Given the description of an element on the screen output the (x, y) to click on. 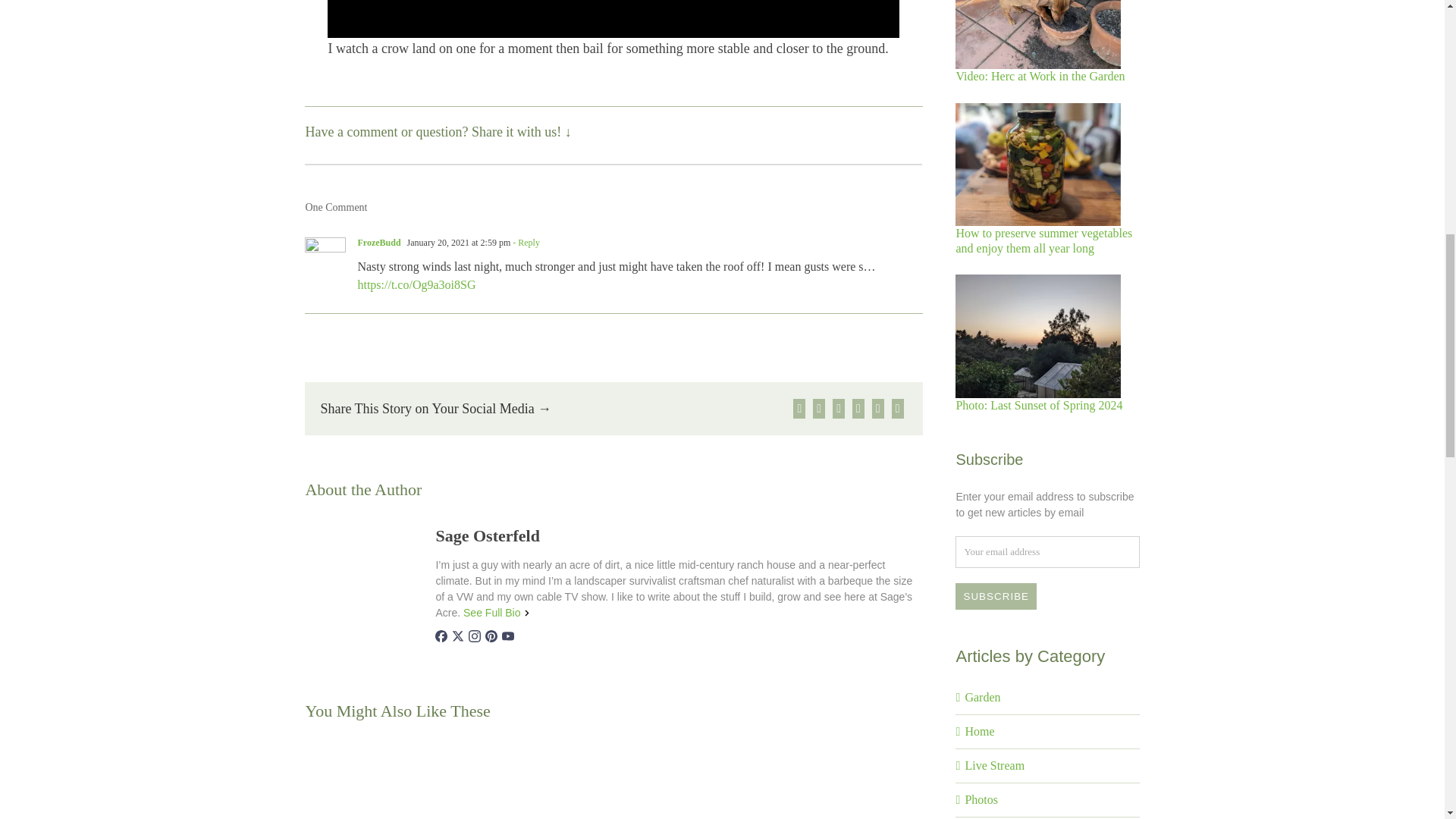
YouTube video player 1 (613, 18)
FrozeBudd (378, 242)
Subscribe (995, 596)
- Reply (525, 242)
